Given the description of an element on the screen output the (x, y) to click on. 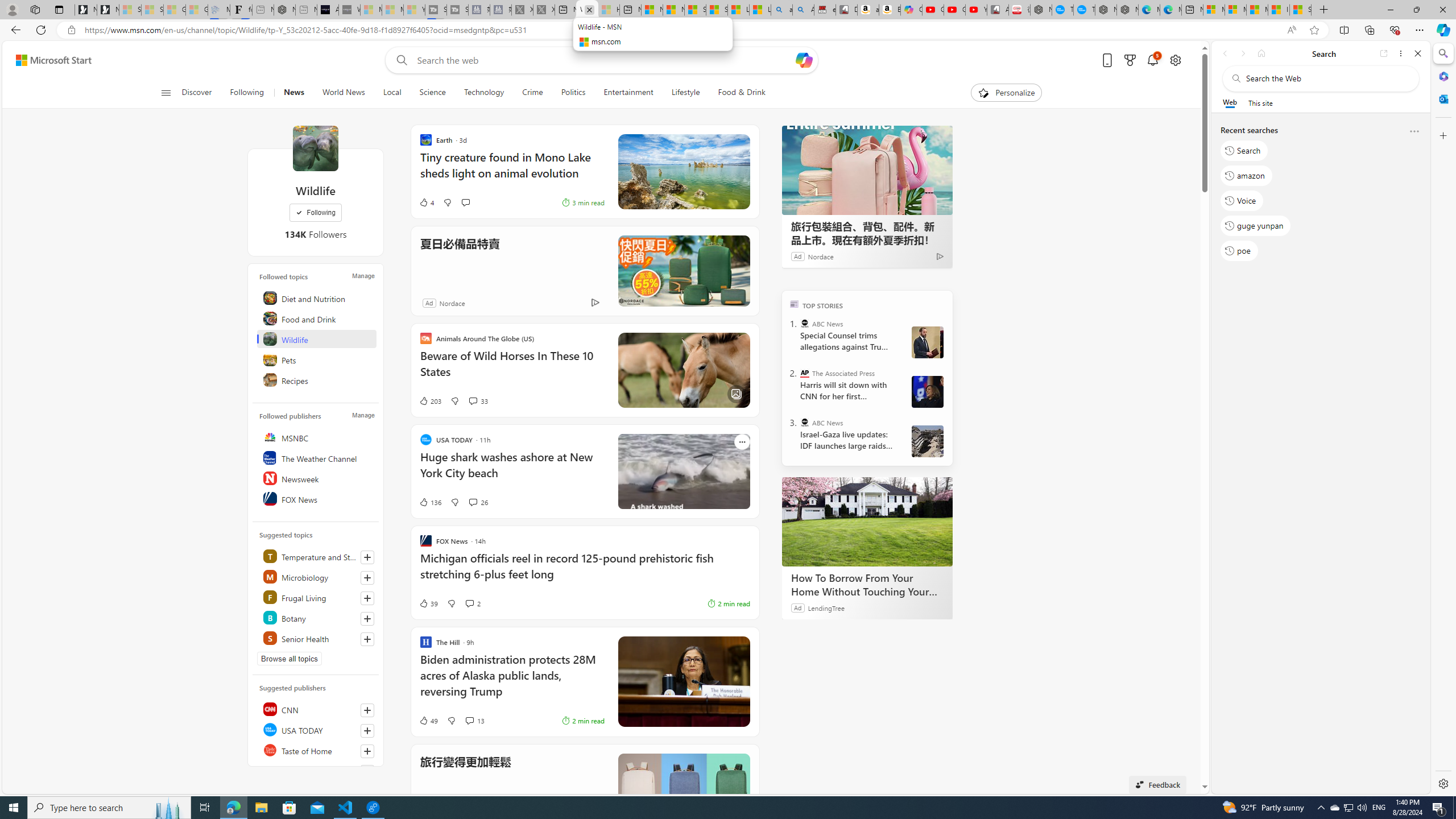
Lifestyle (685, 92)
Crime (531, 92)
Web scope (1230, 102)
amazon.in/dp/B0CX59H5W7/?tag=gsmcom05-21 (868, 9)
Entertainment (628, 92)
Wildlife (317, 339)
Follow this source (367, 751)
Class: hero-image (683, 471)
Newsletter Sign Up (107, 9)
